Given the description of an element on the screen output the (x, y) to click on. 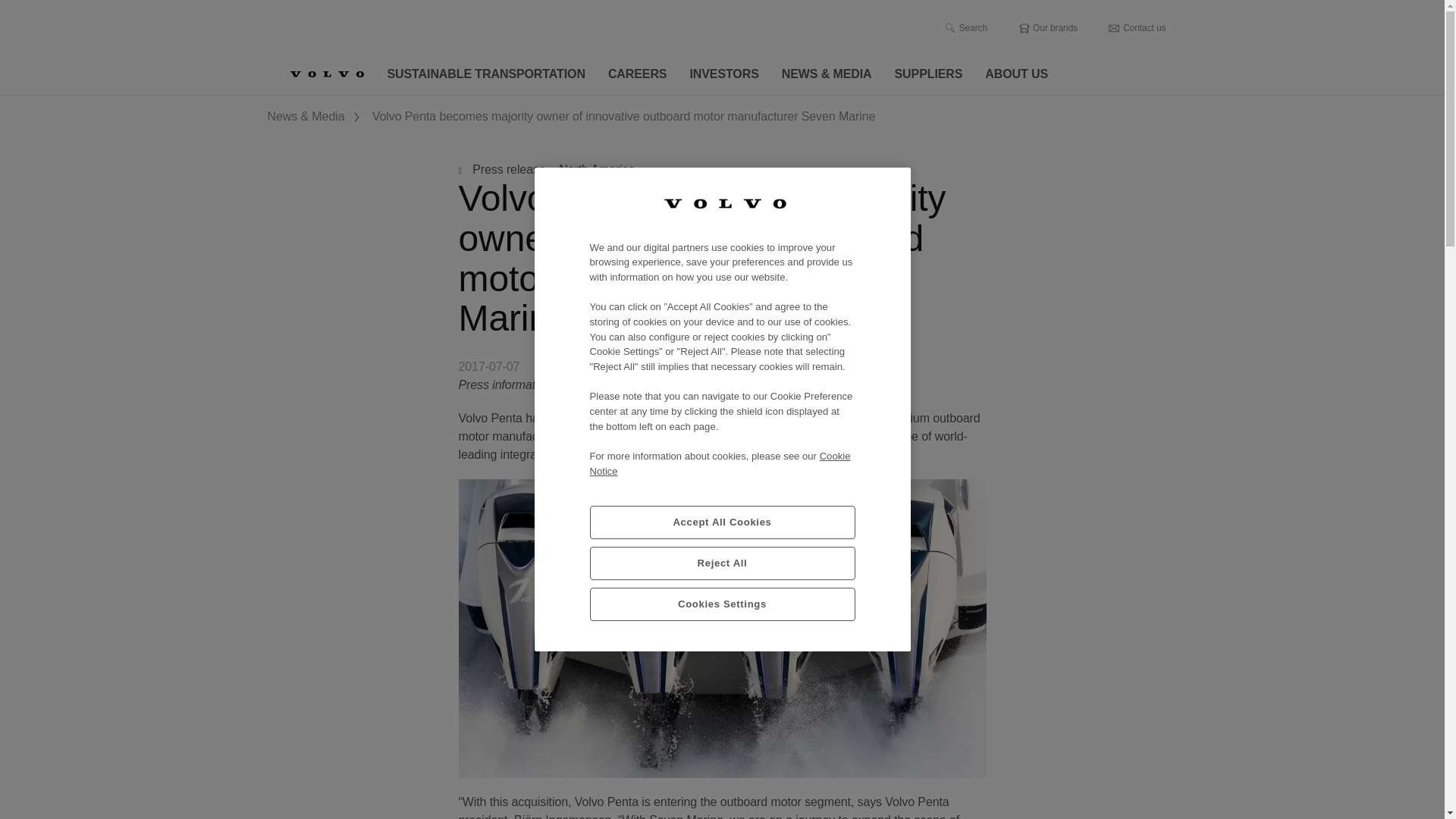
Careers (637, 74)
Our brands (1047, 28)
Investors (724, 74)
Sustainable Transportation (485, 74)
Contact us (1137, 28)
SUSTAINABLE TRANSPORTATION (485, 74)
CAREERS (637, 74)
INVESTORS (724, 74)
